Given the description of an element on the screen output the (x, y) to click on. 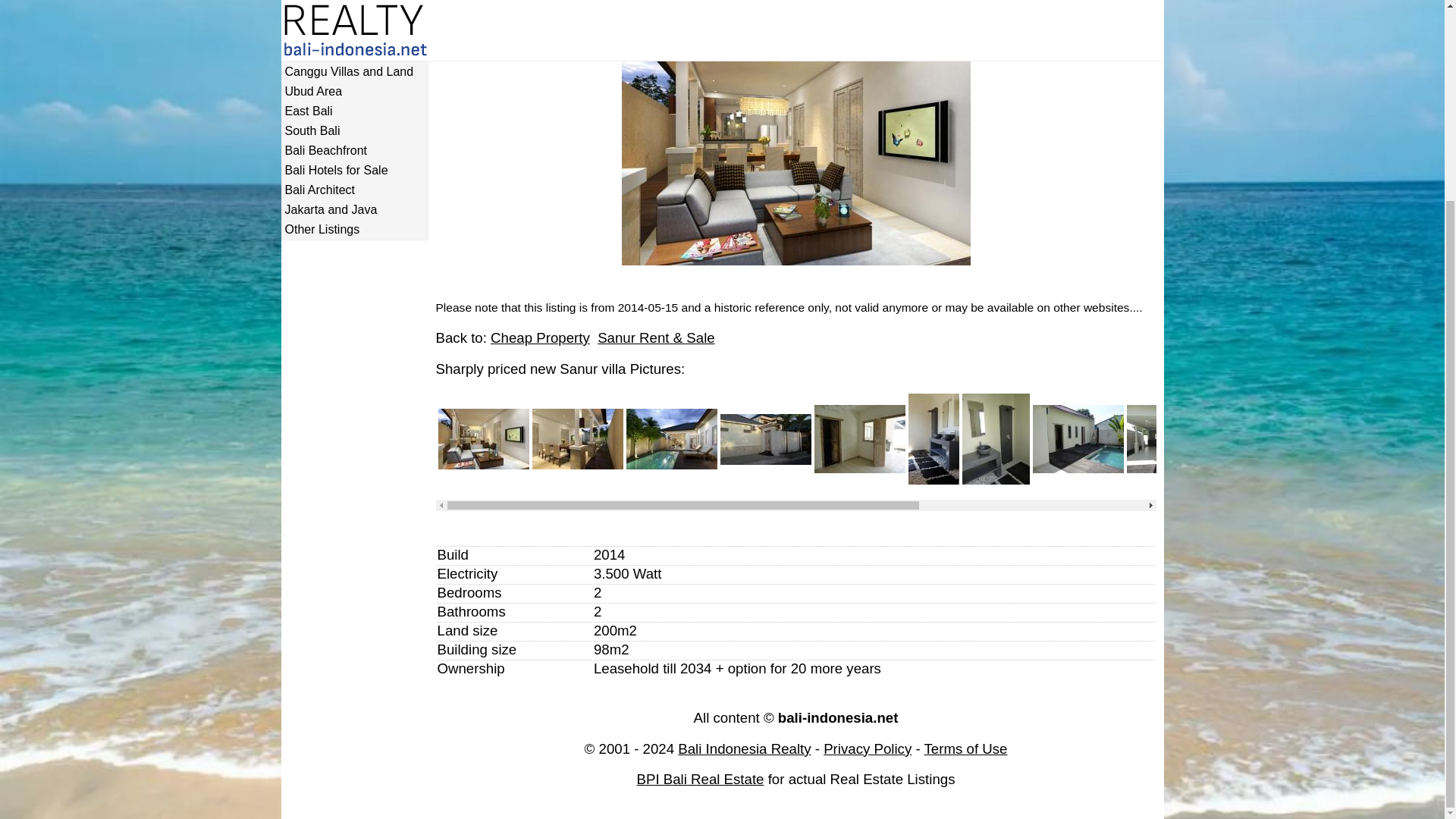
Privacy Policy (965, 748)
East Bali (354, 110)
South Bali (354, 131)
Privacy Policy (867, 748)
Canggu Villas and Land (354, 71)
Bali Hotels for Sale (354, 170)
Jakarta and Java (354, 210)
Other Listings (354, 229)
Cheap Property (539, 337)
Bali Land for Sale (354, 32)
Bali Architect (354, 190)
Bali House for Rent (354, 12)
Privacy Policy (867, 748)
Ubud Area (354, 91)
Bali Beachfront (354, 151)
